Given the description of an element on the screen output the (x, y) to click on. 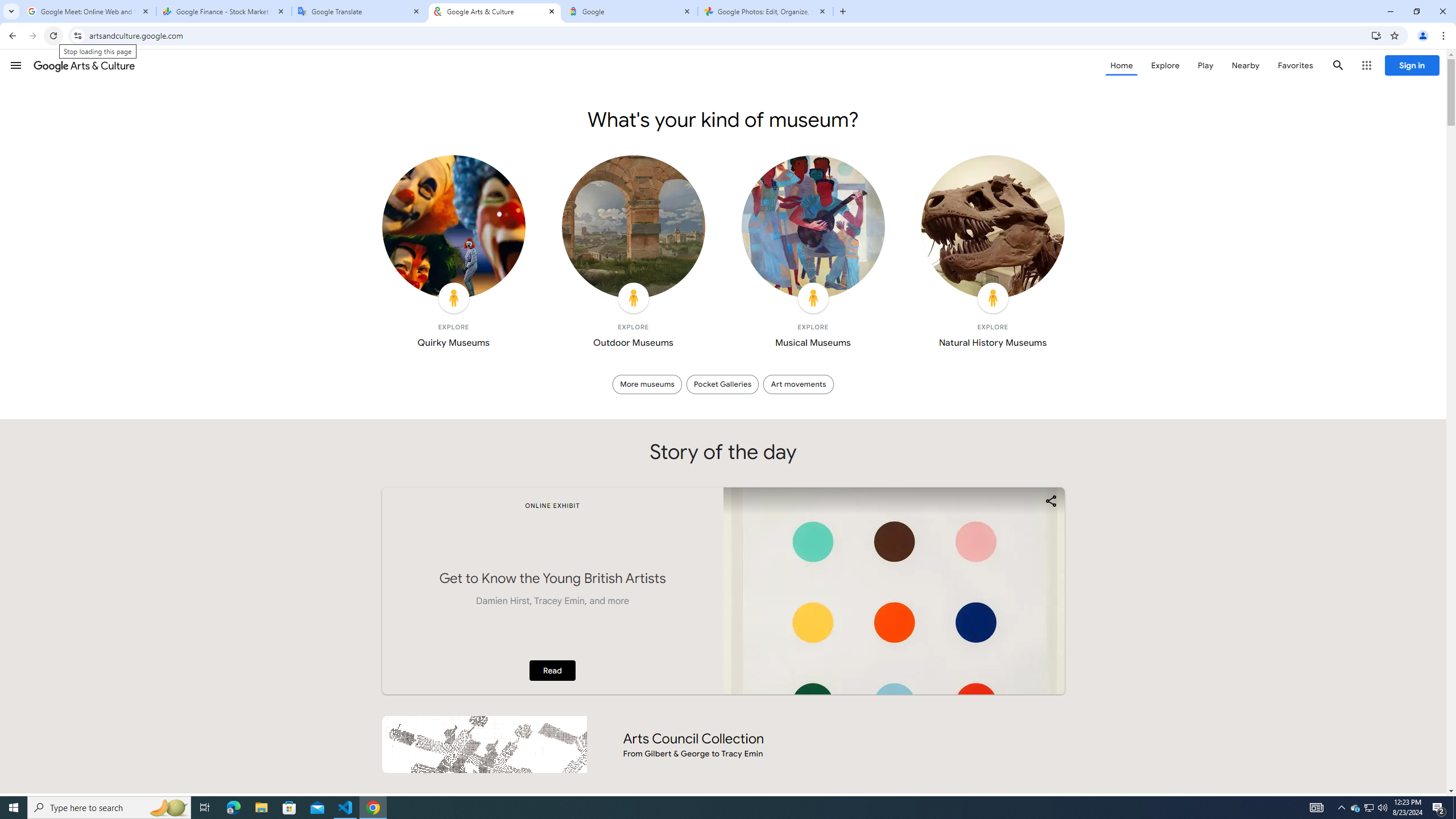
Nearby (1244, 65)
Art movements (798, 384)
EXPLORE Quirky Museums (453, 254)
Google Translate (359, 11)
Menu (15, 65)
Explore (1164, 65)
Install Google Arts & Culture (1376, 35)
